Given the description of an element on the screen output the (x, y) to click on. 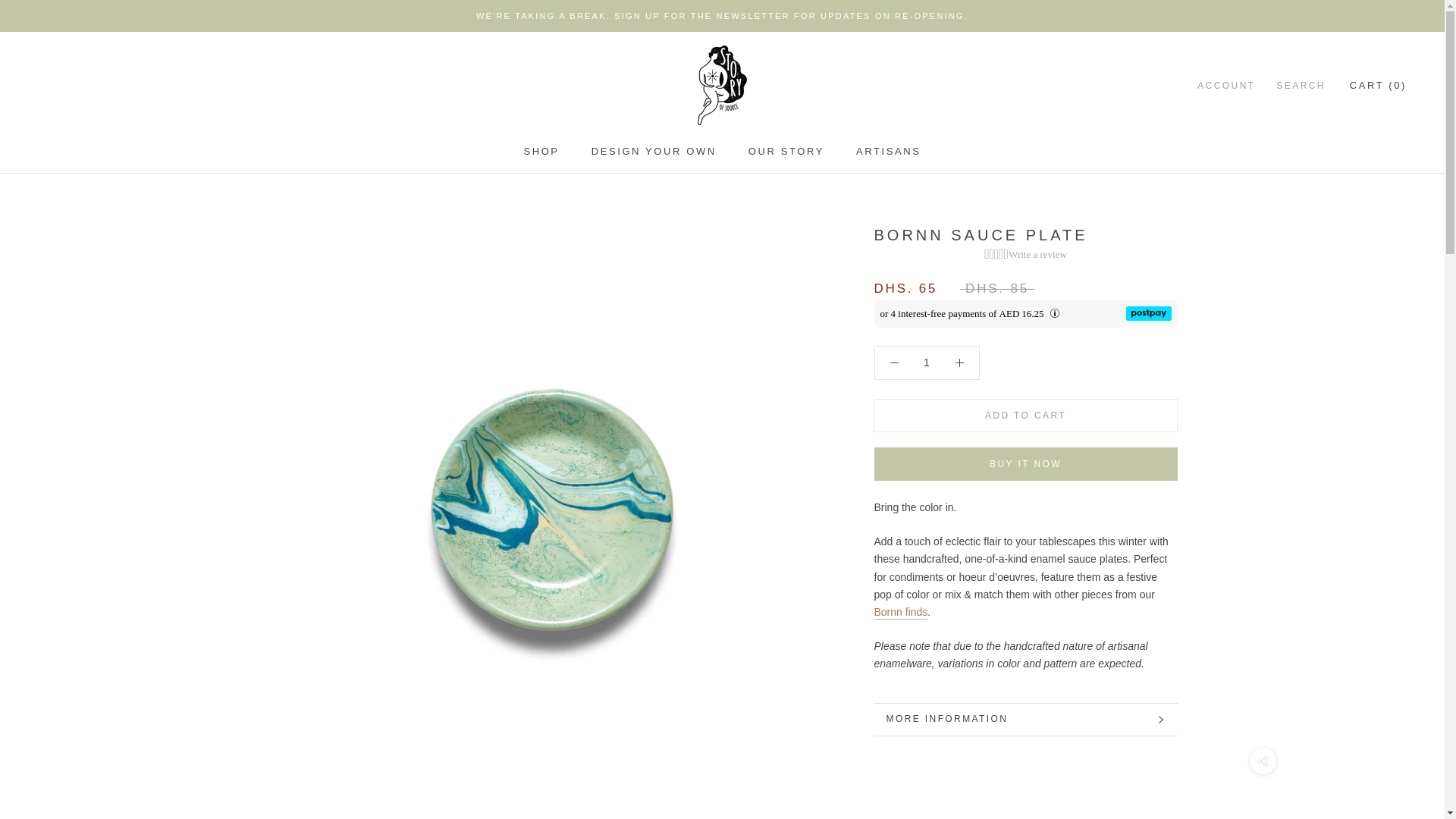
SHOP (540, 151)
1 (786, 151)
ARTISANS (925, 362)
DESIGN YOUR OWN (888, 151)
